Given the description of an element on the screen output the (x, y) to click on. 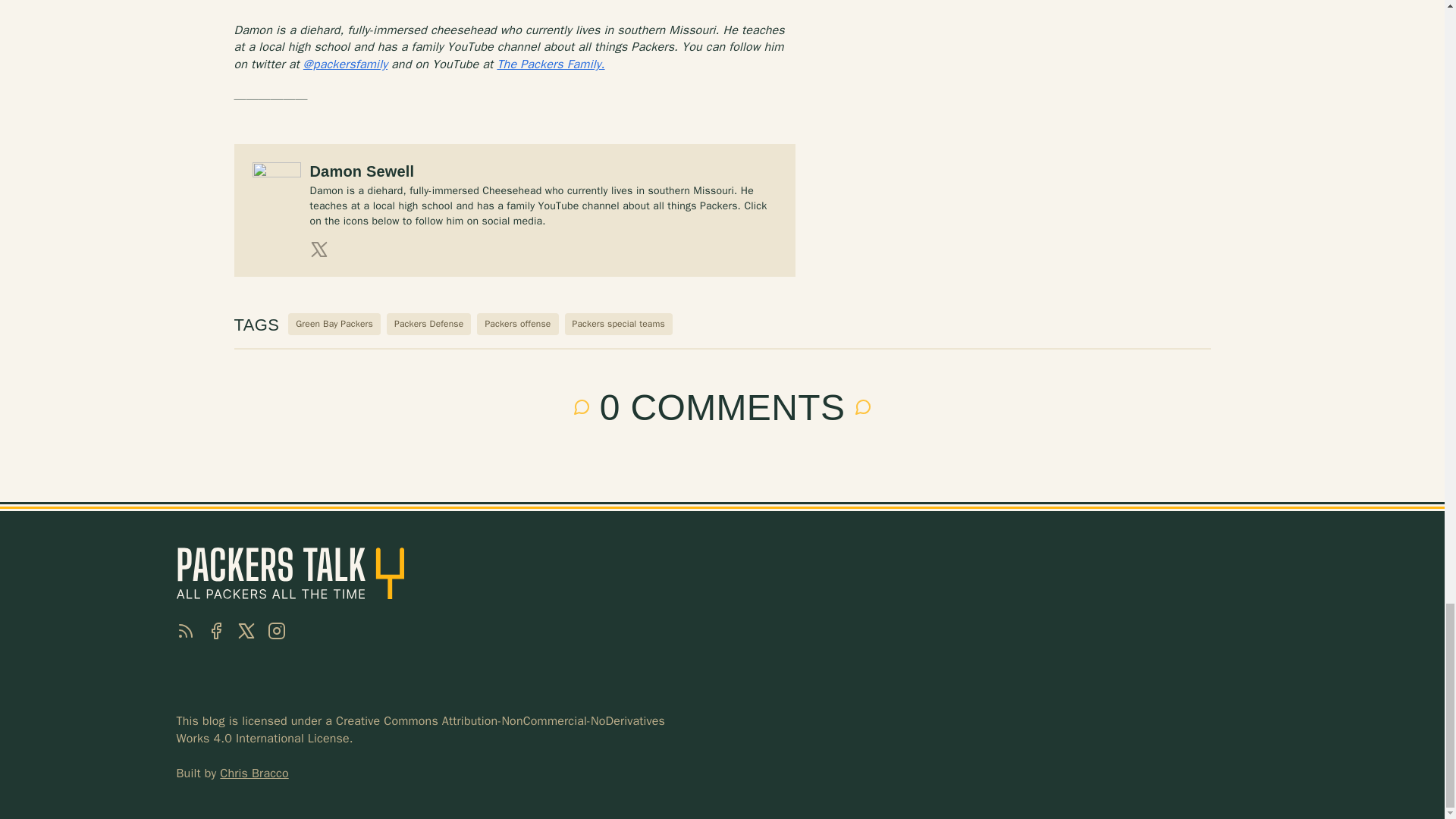
Packers Defense (428, 323)
The Packers Family. (550, 64)
Green Bay Packers (334, 323)
Packers special teams (618, 323)
Packers offense (517, 323)
